Given the description of an element on the screen output the (x, y) to click on. 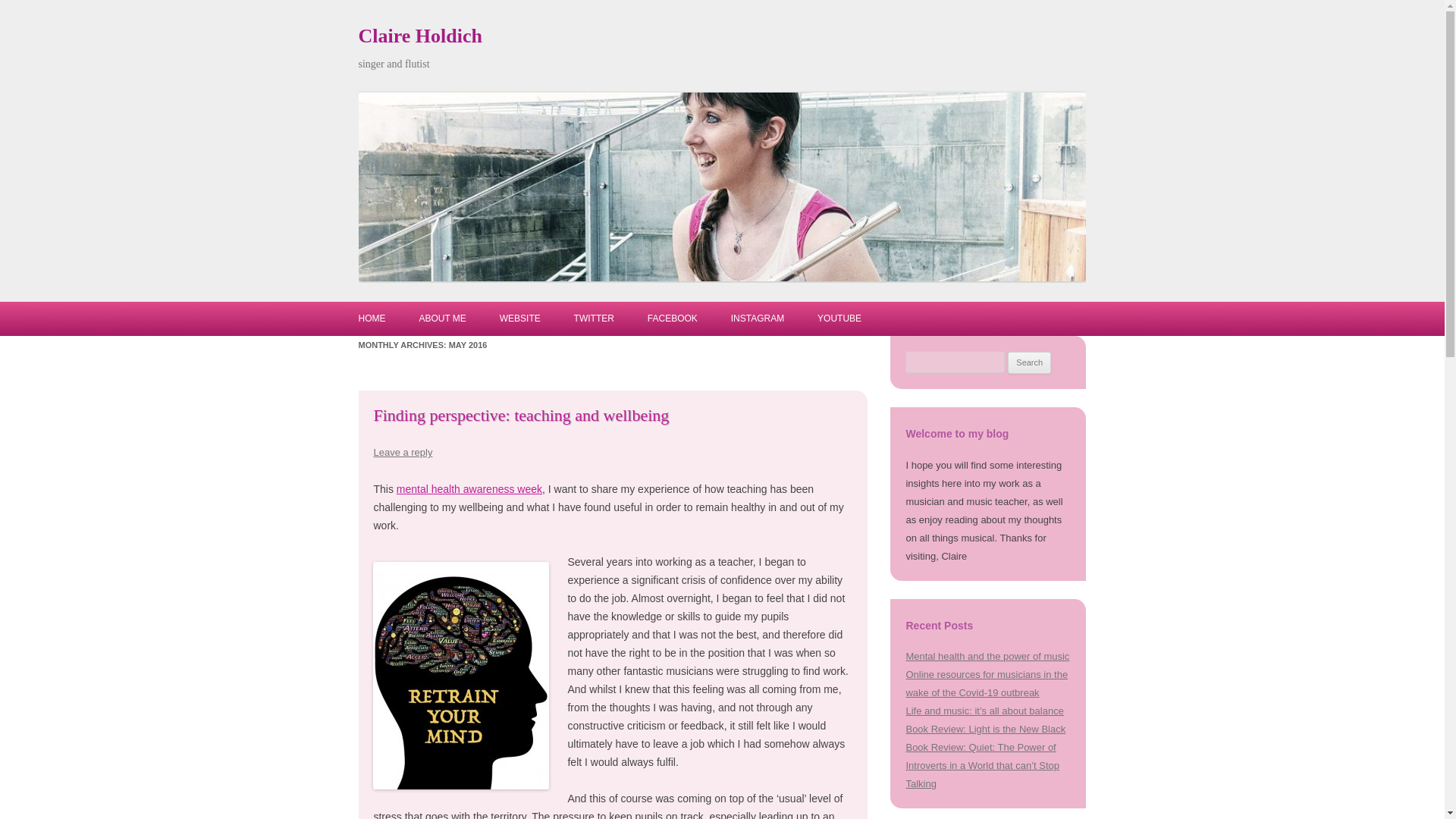
INSTAGRAM (757, 318)
Leave a reply (402, 451)
ABOUT ME (442, 318)
FACEBOOK (672, 318)
Book Review: Light is the New Black (985, 728)
WEBSITE (519, 318)
Mental health and the power of music (986, 655)
TWITTER (593, 318)
Claire Holdich (419, 36)
